Given the description of an element on the screen output the (x, y) to click on. 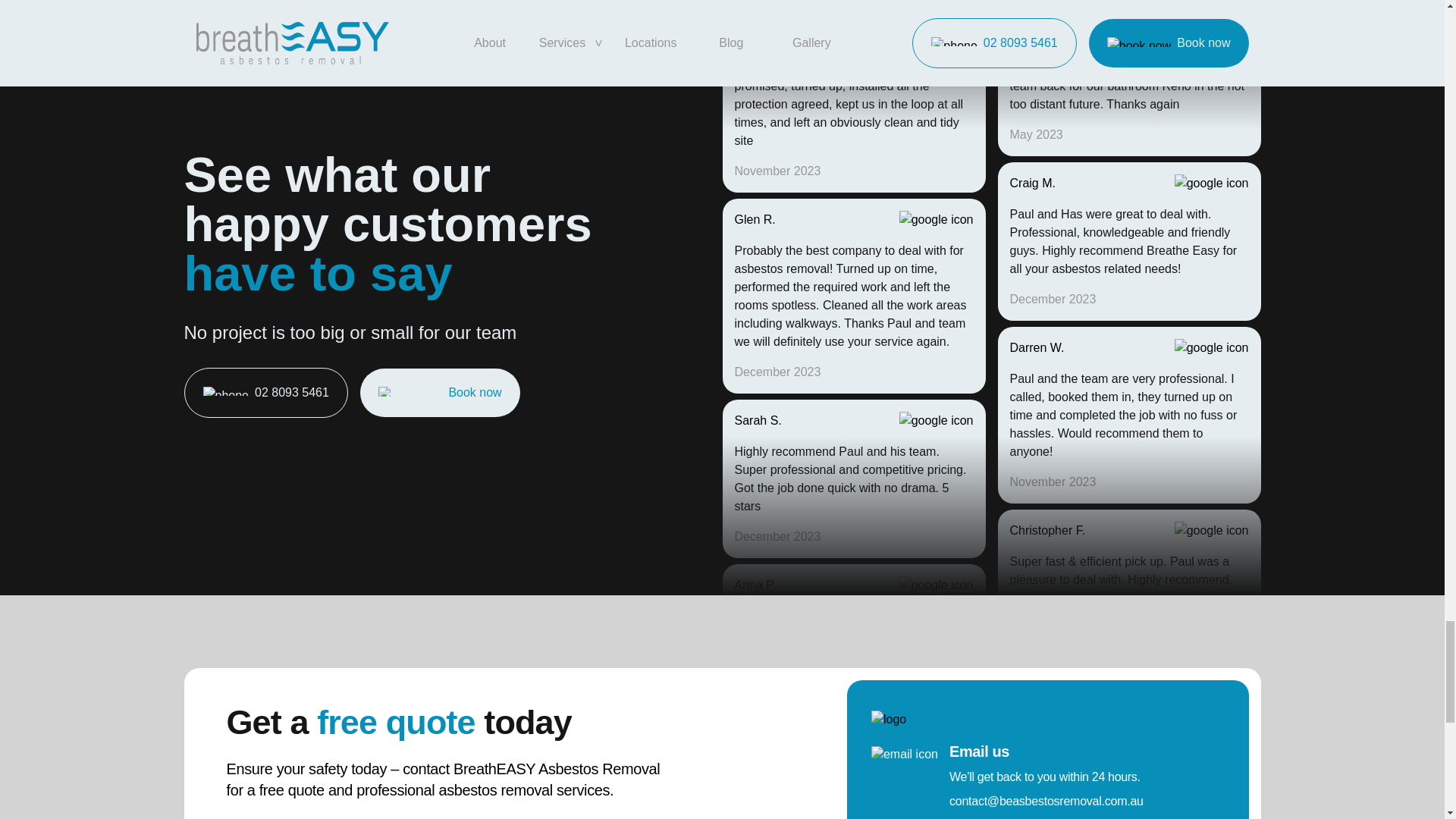
Book now (439, 392)
02 8093 5461 (265, 392)
